Given the description of an element on the screen output the (x, y) to click on. 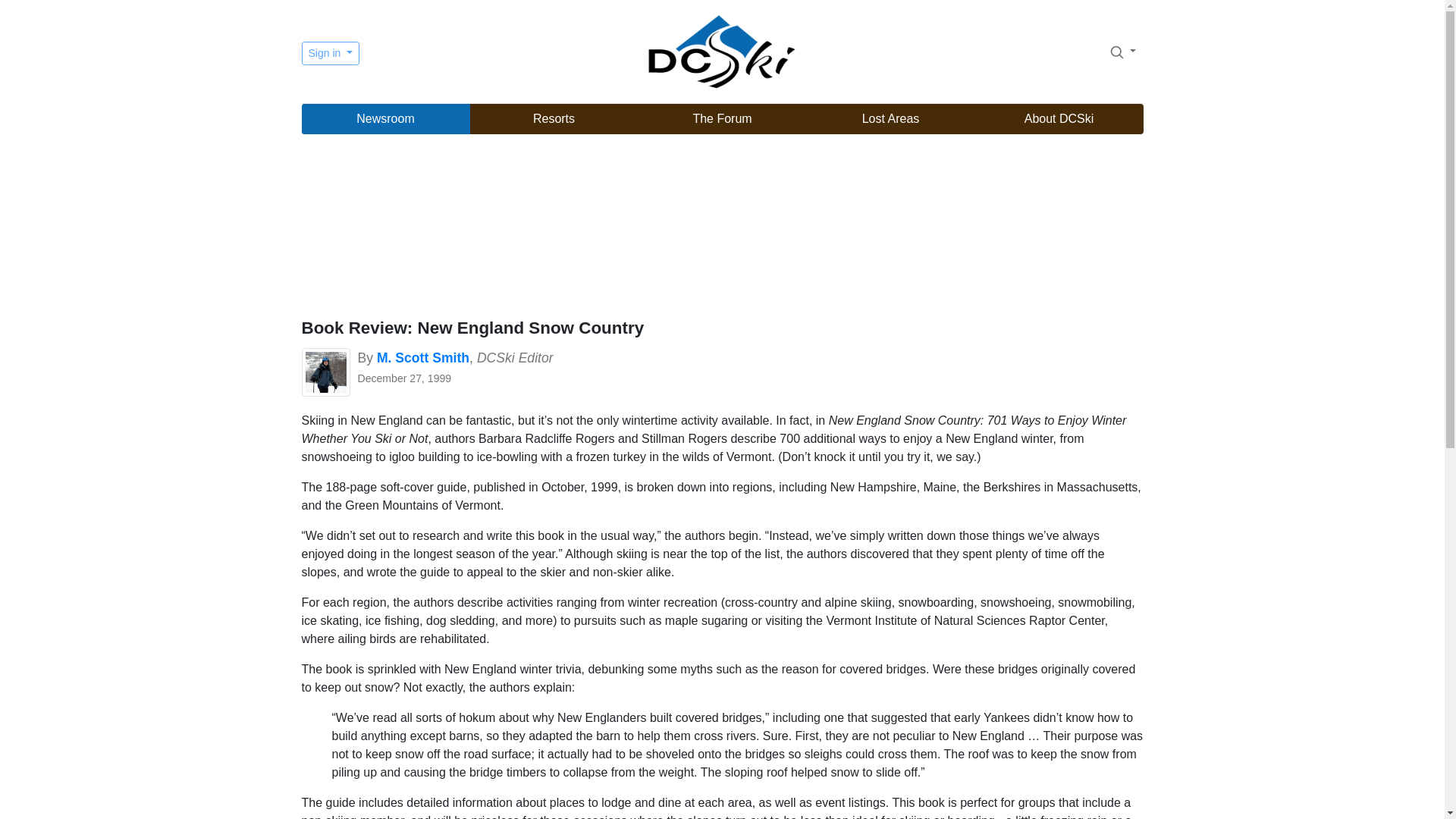
M. Scott Smith (422, 357)
The Forum (722, 119)
Advertisement (721, 227)
Search (1116, 52)
About DCSki (1058, 119)
Lost Areas (890, 119)
Search (1122, 51)
Resorts (554, 119)
Sign in (330, 53)
Newsroom (385, 119)
